Given the description of an element on the screen output the (x, y) to click on. 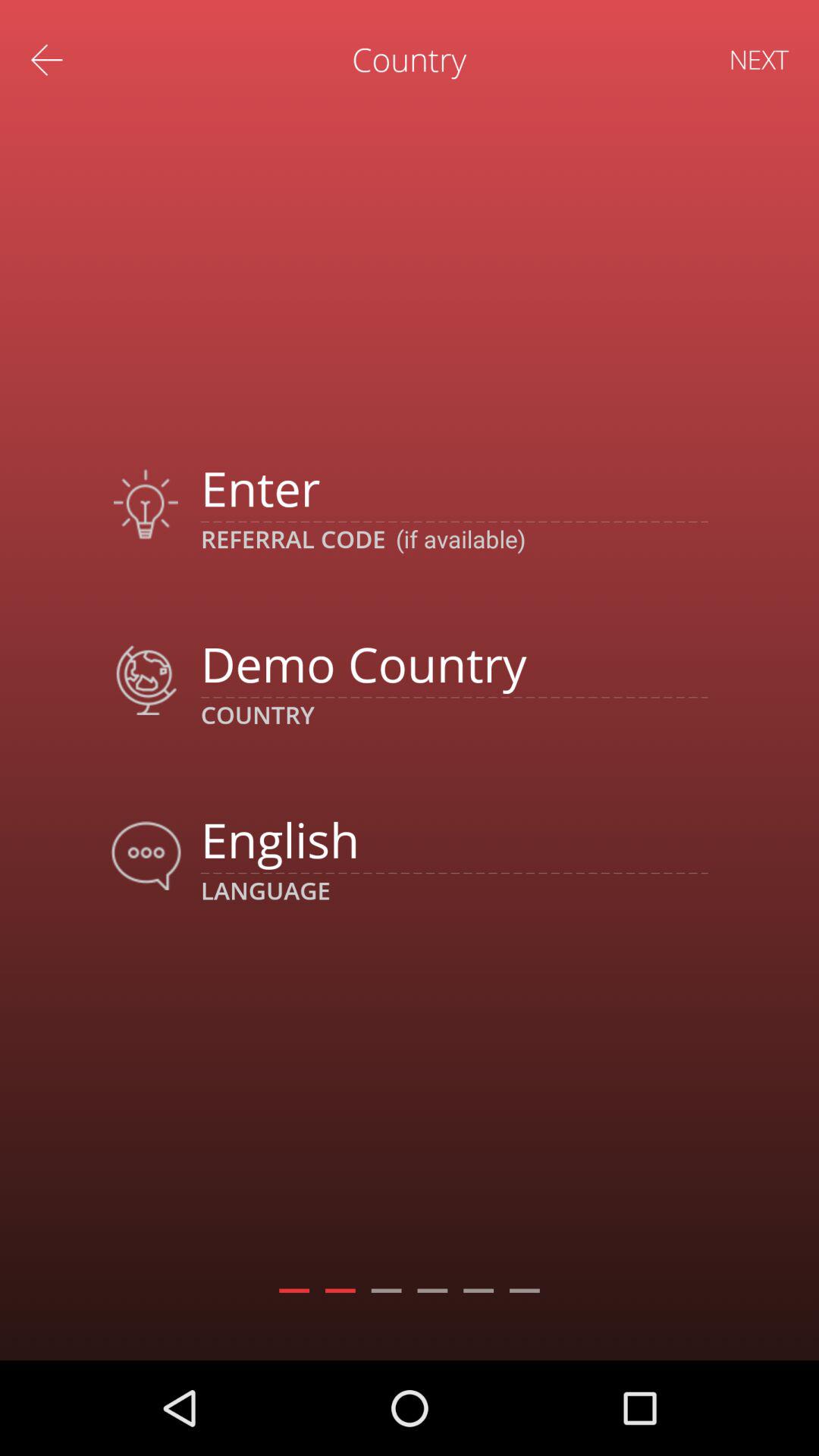
turn off the icon below country item (454, 839)
